Given the description of an element on the screen output the (x, y) to click on. 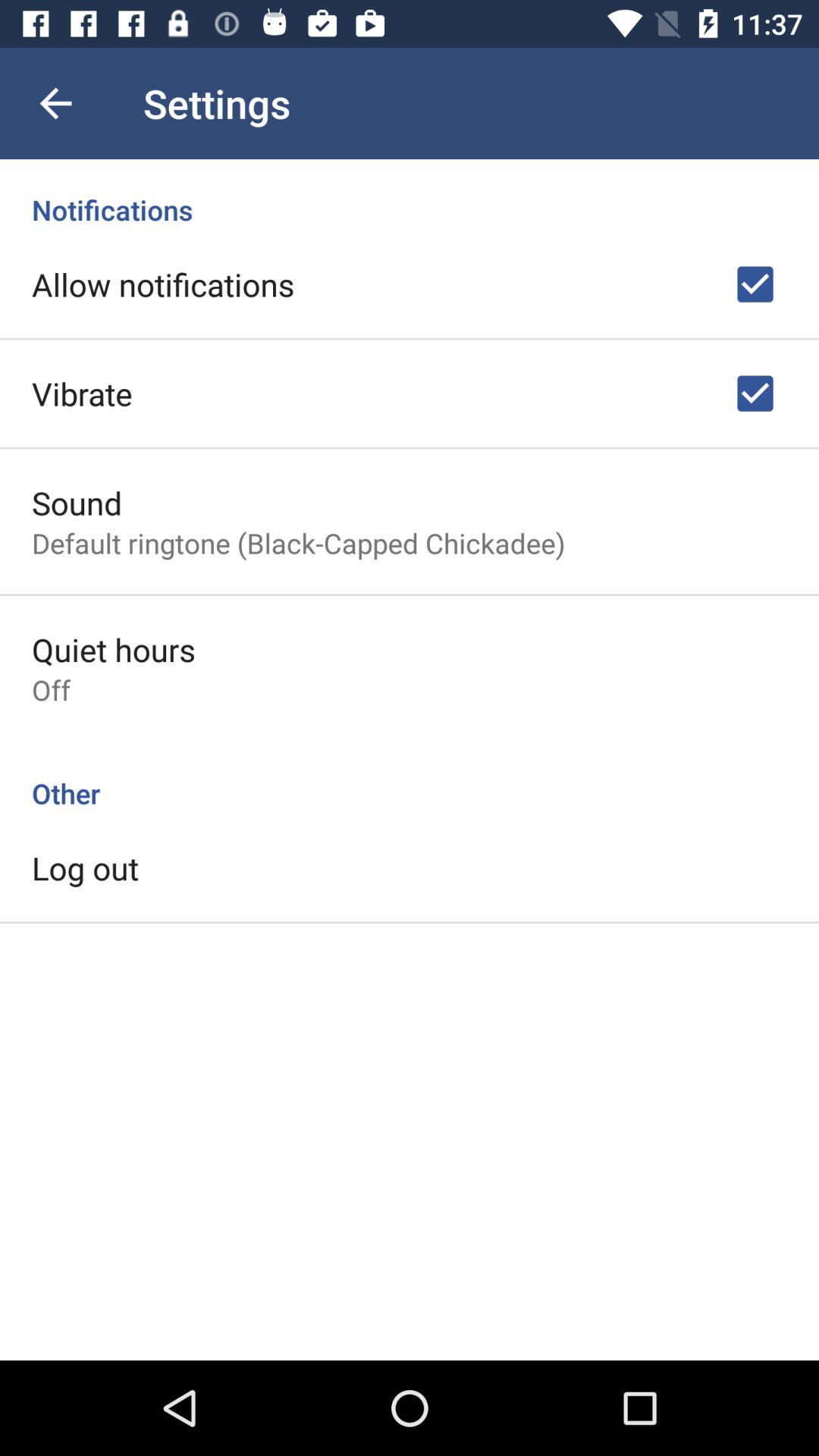
turn off icon above off icon (113, 649)
